Given the description of an element on the screen output the (x, y) to click on. 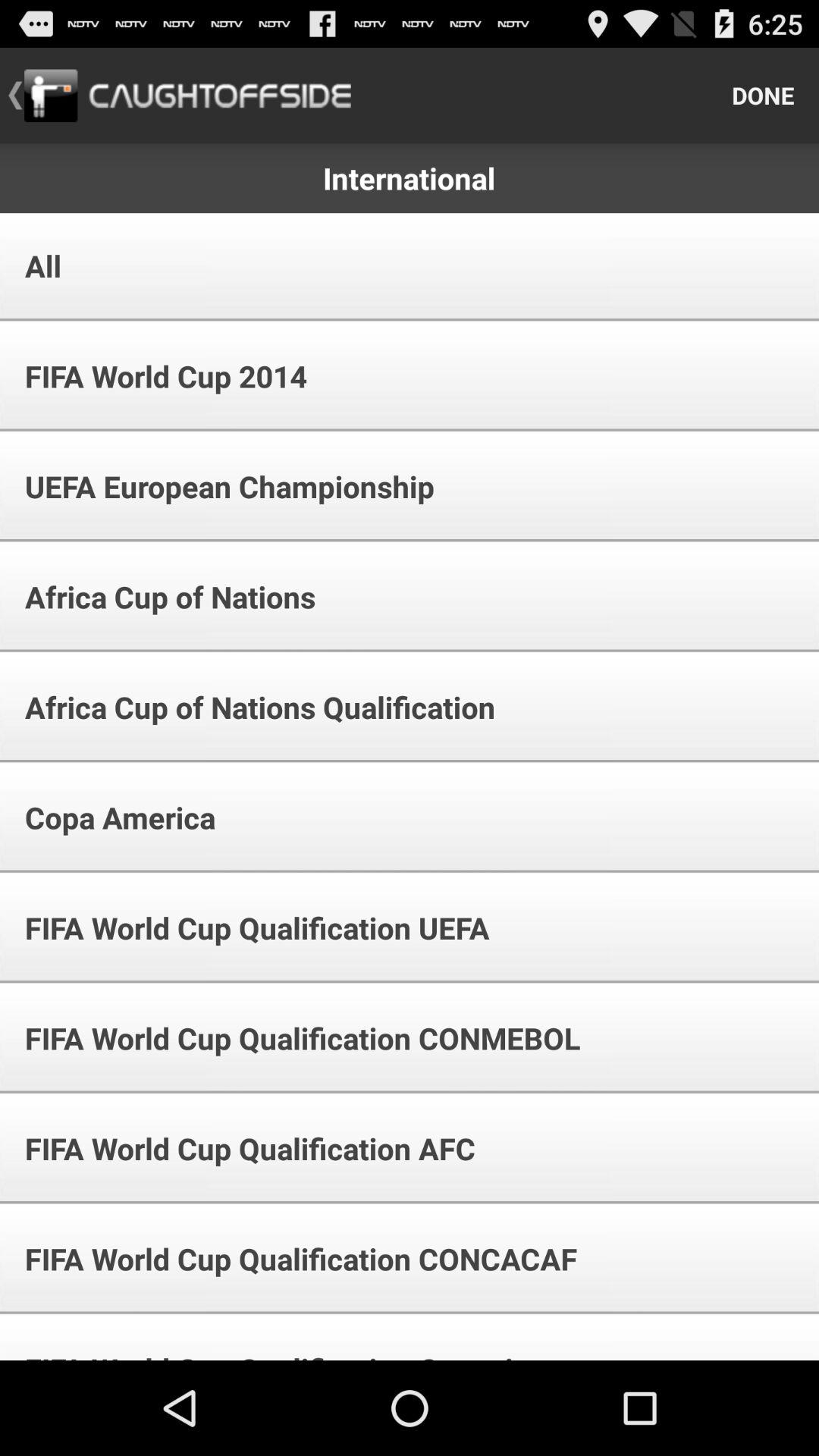
tap all (33, 265)
